Given the description of an element on the screen output the (x, y) to click on. 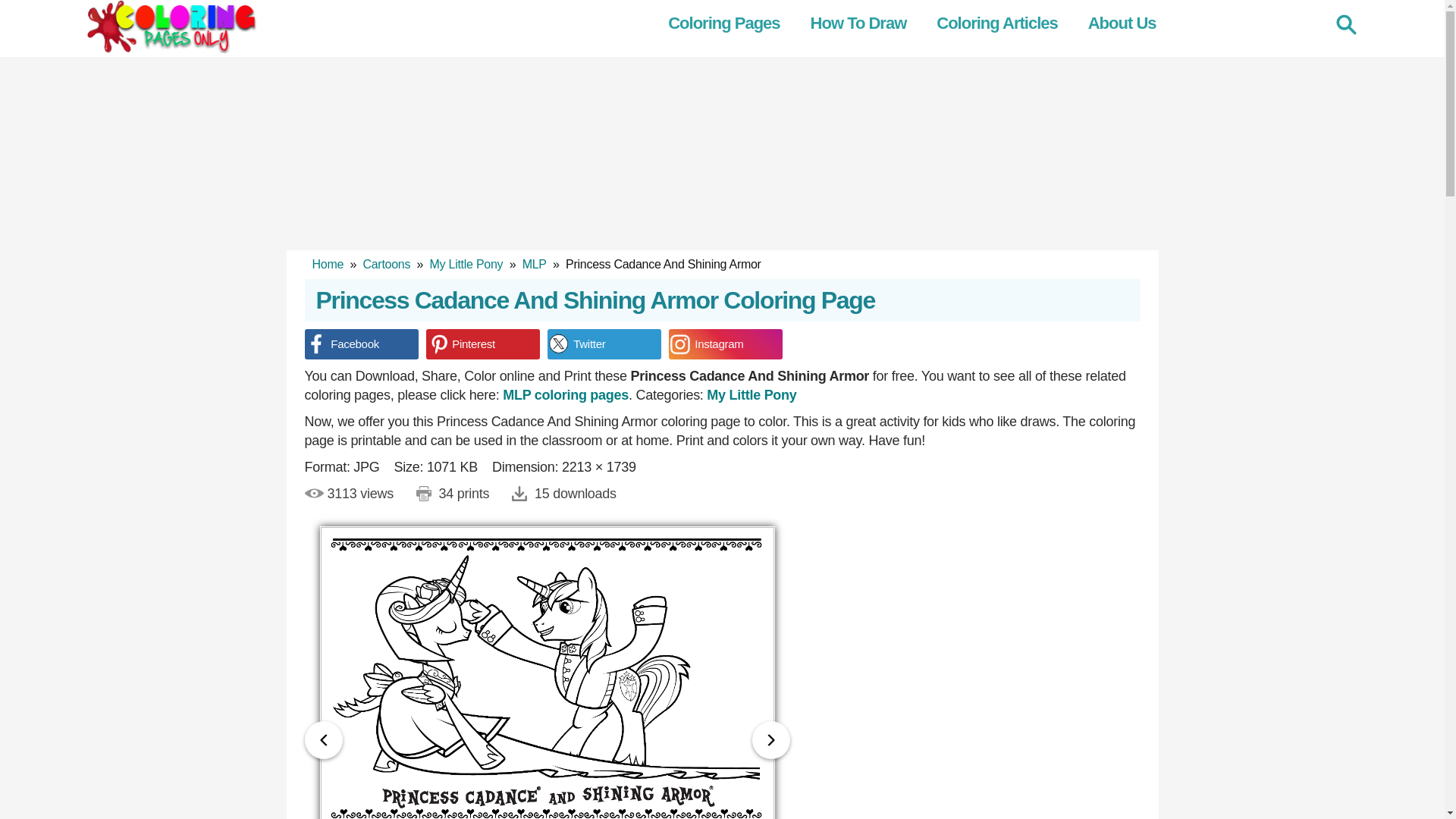
How To Draw (865, 23)
Princess Cadance And Shining Armor (547, 672)
Coloring Pages (731, 23)
MLP (565, 394)
ColoringPagesOnly.com (170, 26)
Coloring Articles (1003, 23)
About Us (1129, 23)
